Given the description of an element on the screen output the (x, y) to click on. 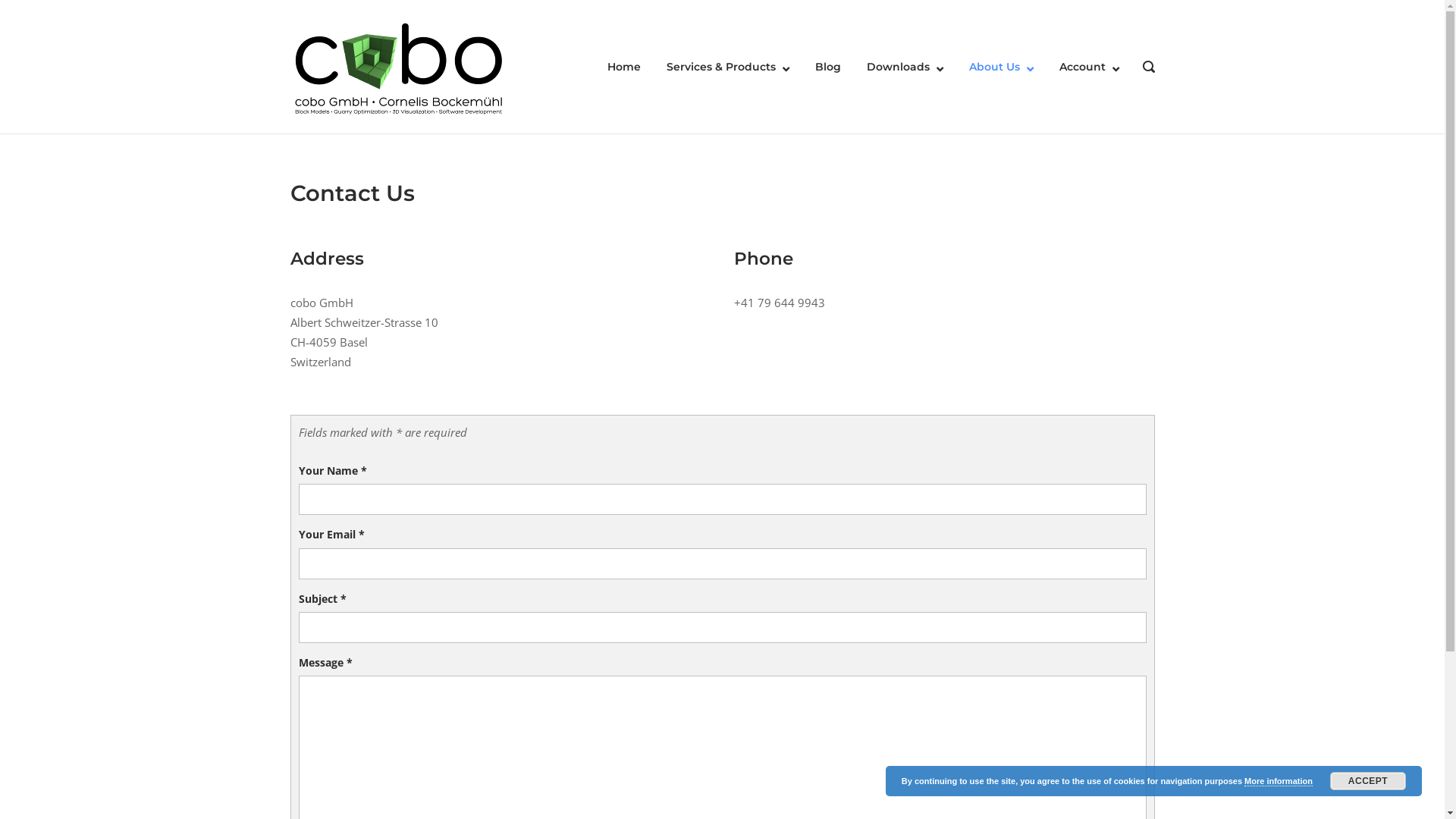
Downloads Element type: text (904, 66)
Home Element type: text (623, 66)
OPEN SEARCH BAR Element type: text (1148, 67)
Services & Products Element type: text (726, 66)
Home Element type: text (397, 64)
Account Element type: text (1088, 66)
About Us Element type: text (1001, 66)
More information Element type: text (1278, 781)
Blog Element type: text (827, 66)
ACCEPT Element type: text (1367, 780)
